Given the description of an element on the screen output the (x, y) to click on. 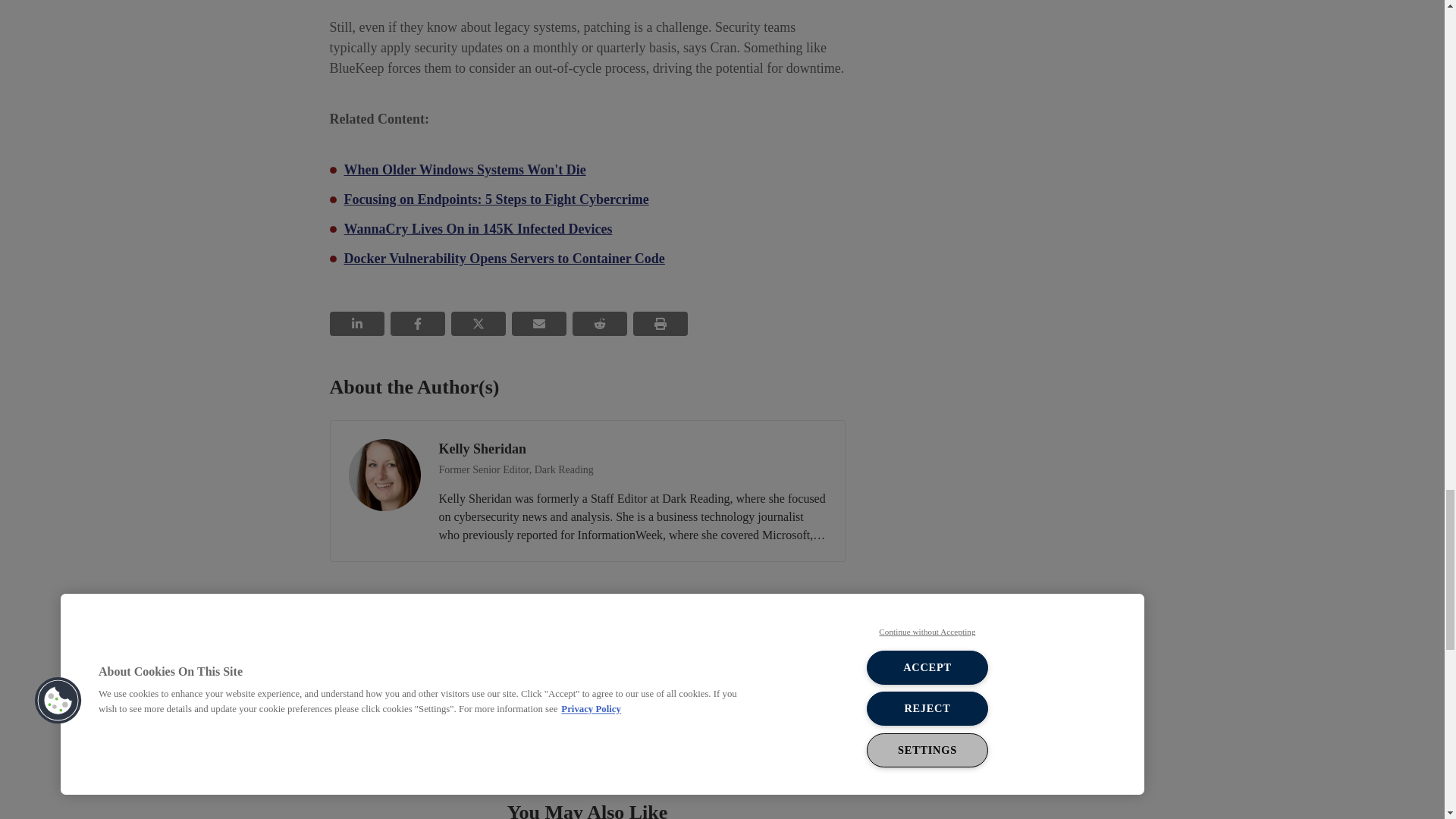
Kelly Sheridan (384, 474)
